Given the description of an element on the screen output the (x, y) to click on. 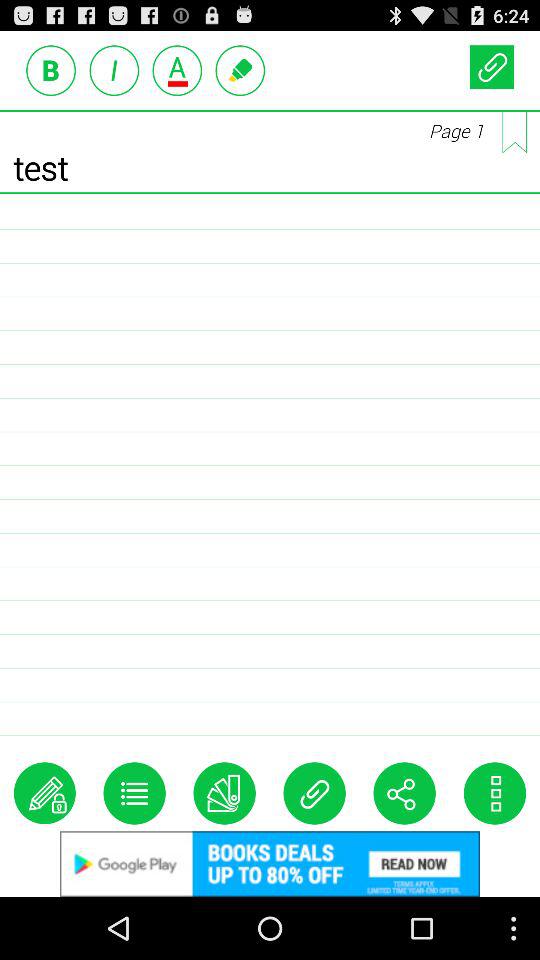
select text colour (177, 70)
